Given the description of an element on the screen output the (x, y) to click on. 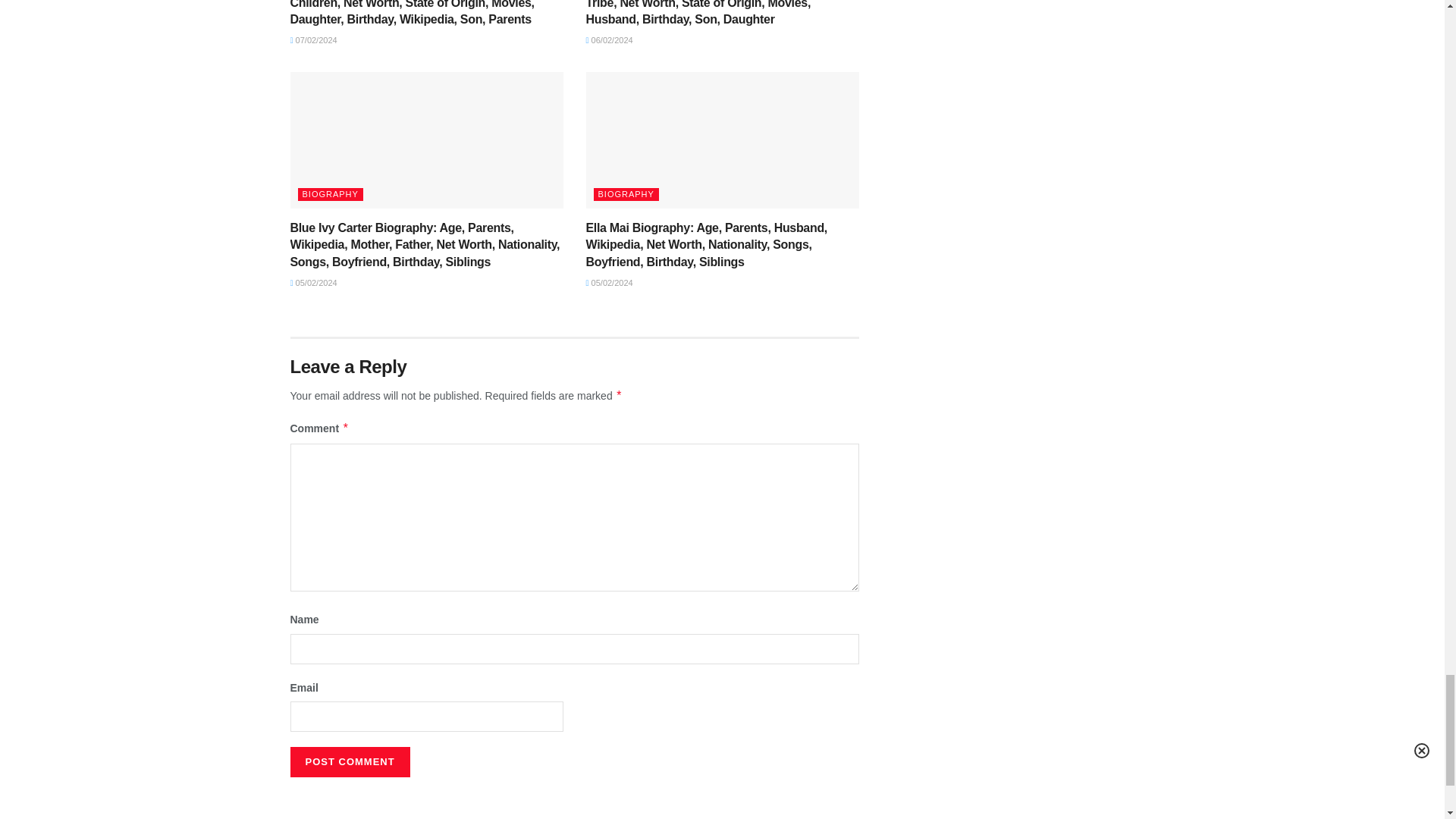
Post Comment (349, 761)
